Given the description of an element on the screen output the (x, y) to click on. 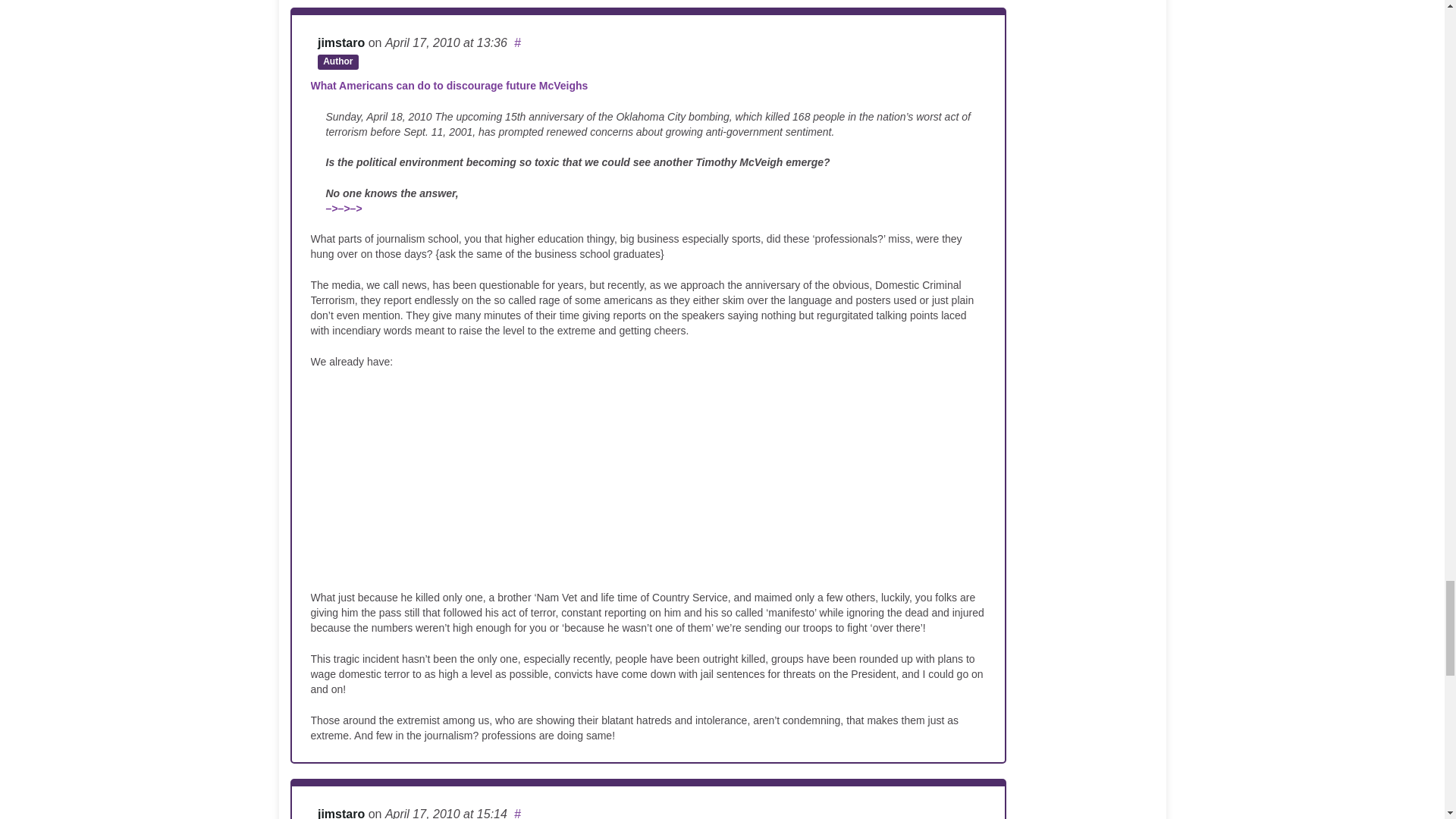
What Americans can do to discourage future McVeighs (449, 85)
jimstaro (341, 42)
